Given the description of an element on the screen output the (x, y) to click on. 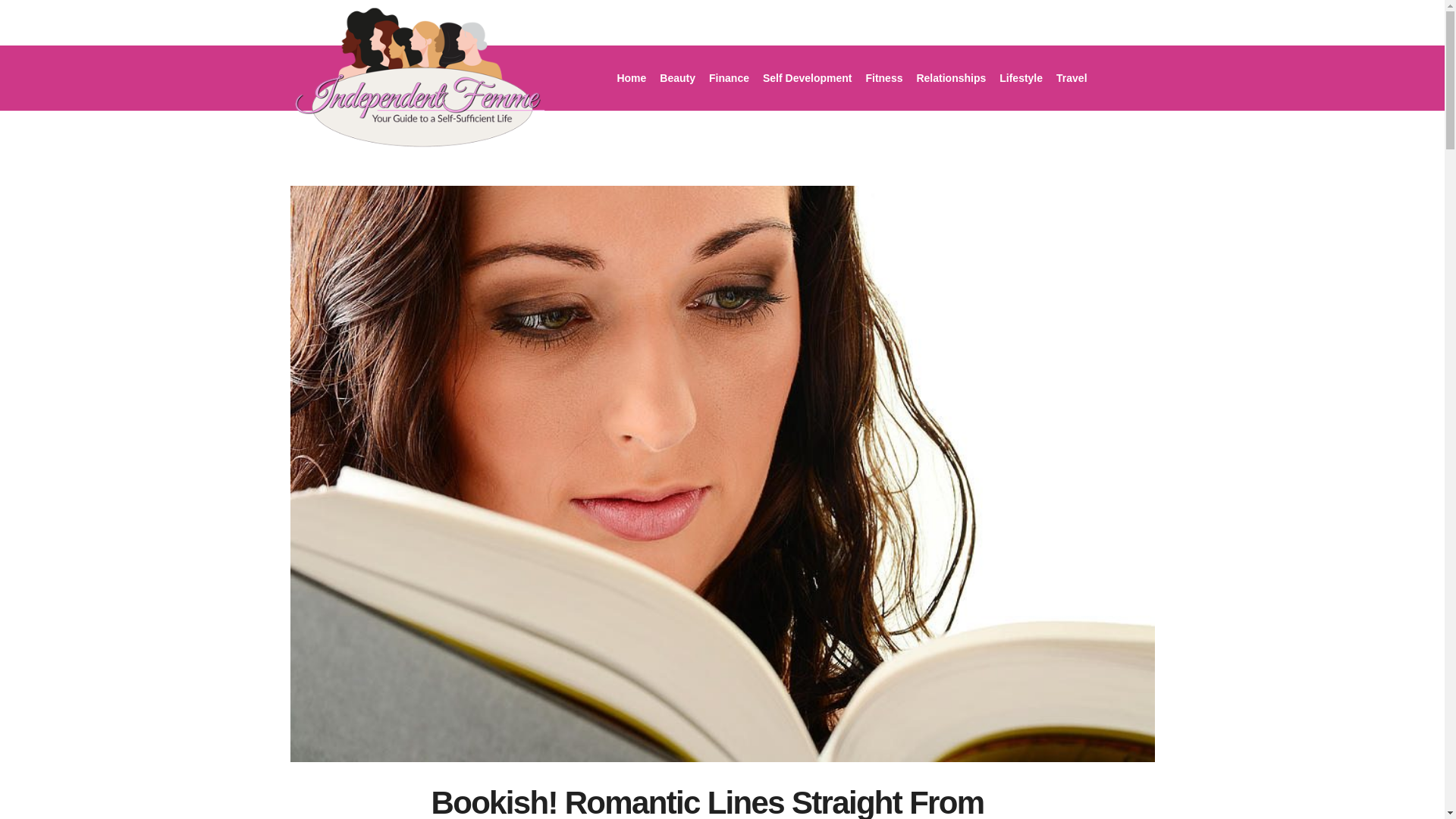
Home (631, 77)
Self Development (807, 77)
Beauty (676, 77)
Lifestyle (1020, 77)
Relationships (950, 77)
Travel (1071, 77)
Fitness (883, 77)
Finance (728, 77)
